Given the description of an element on the screen output the (x, y) to click on. 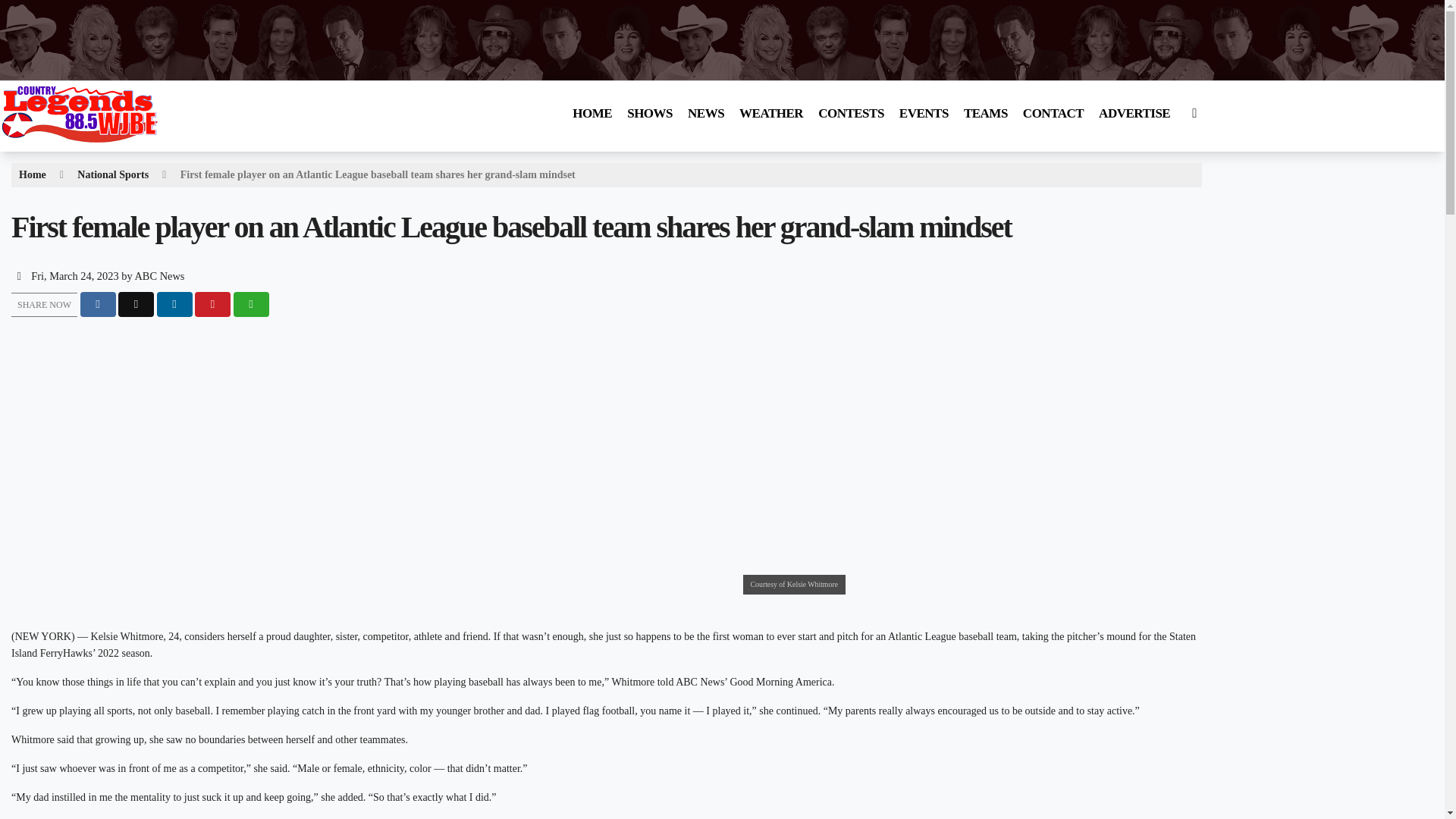
Share to LinkedIn (173, 303)
Share to Pinterest (212, 303)
Share via E-Mail (250, 303)
Share to X (135, 303)
Posts by ABC News (158, 275)
Share to Facebook (98, 303)
Country Legends 88.5 (92, 142)
